Given the description of an element on the screen output the (x, y) to click on. 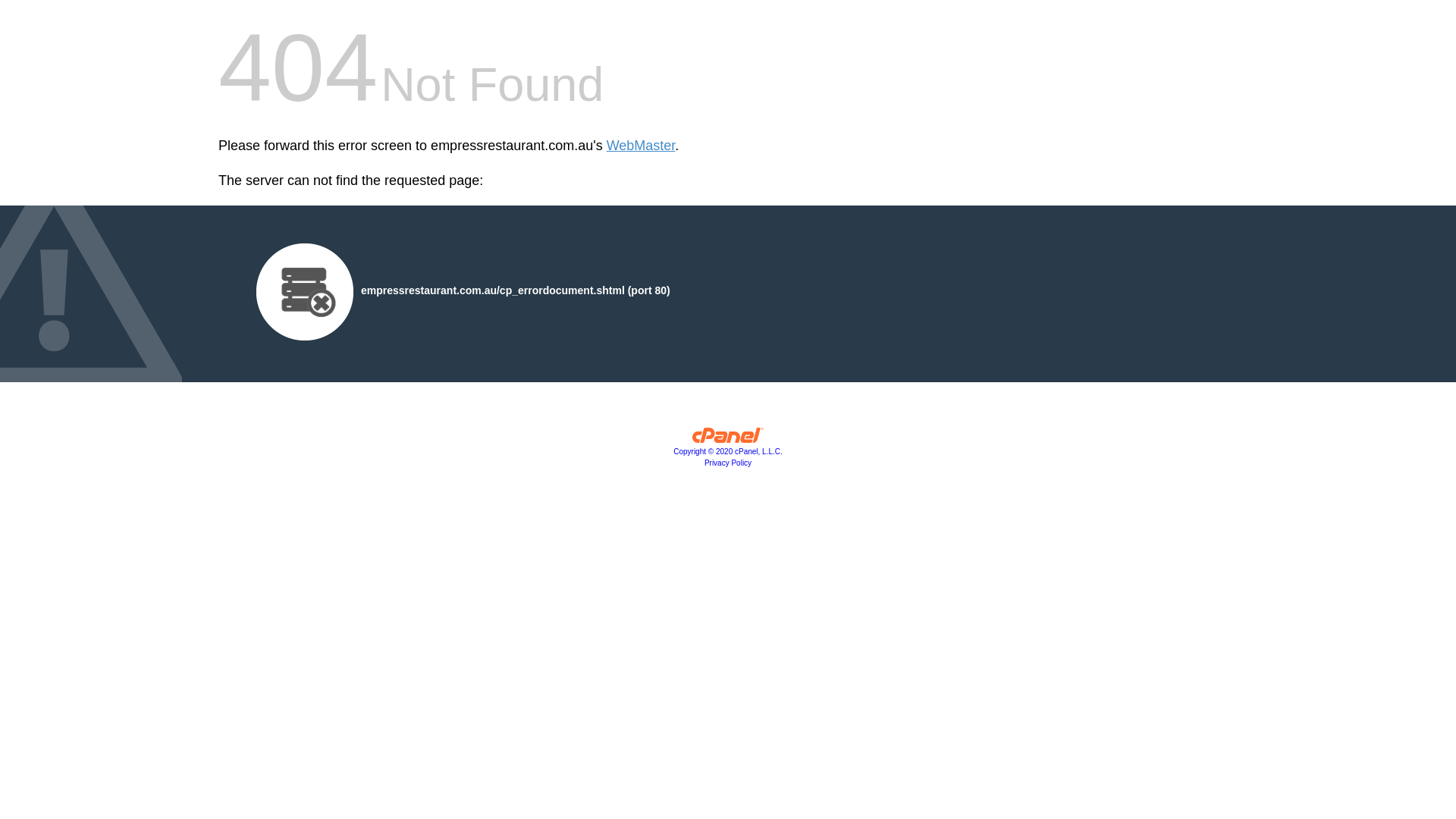
Privacy Policy Element type: text (727, 462)
WebMaster Element type: text (640, 145)
cPanel, Inc. Element type: hover (728, 439)
